Given the description of an element on the screen output the (x, y) to click on. 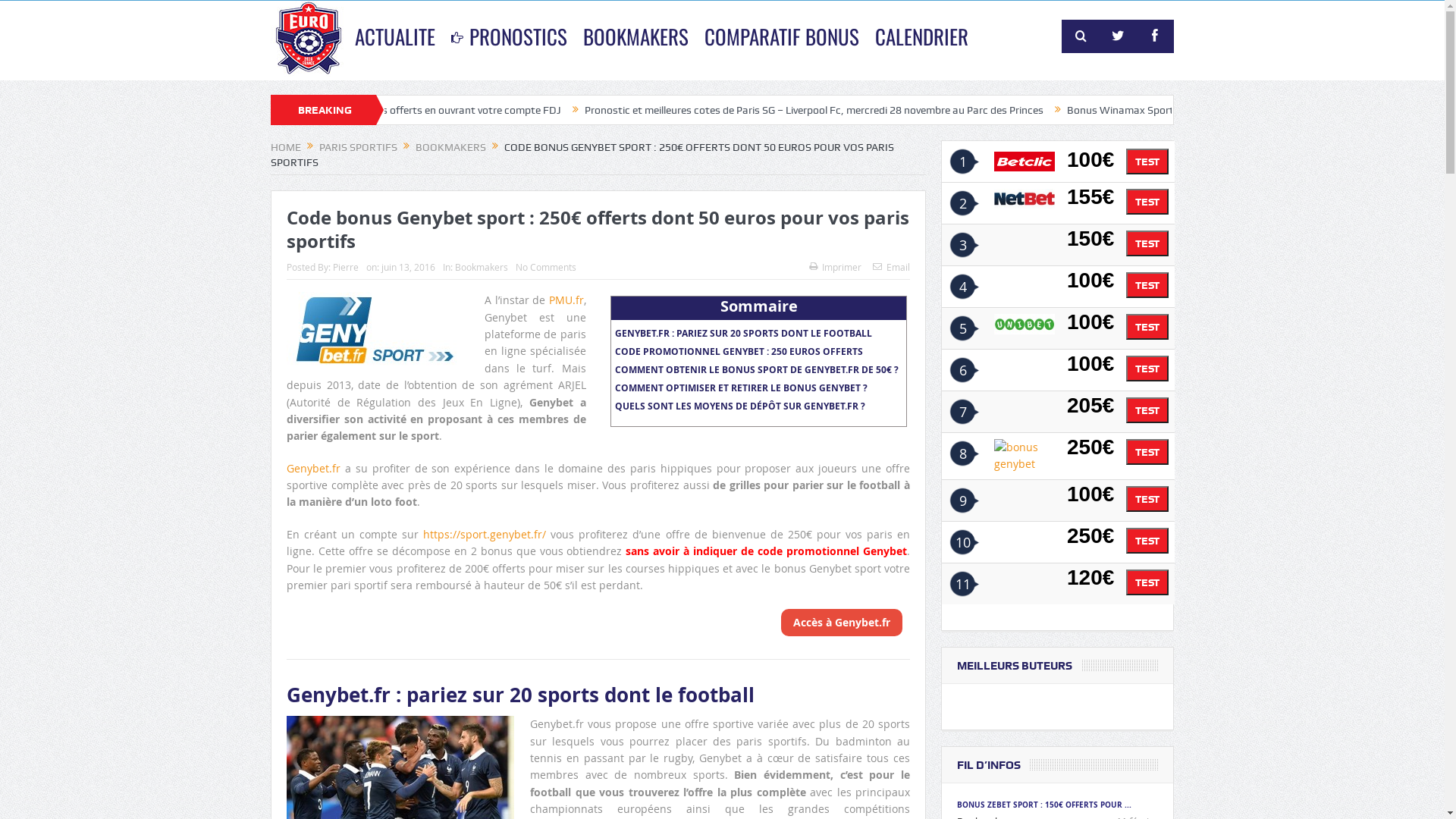
TEST Element type: text (1147, 451)
BOOKMAKERS Element type: text (450, 147)
Email Element type: text (891, 266)
TEST Element type: text (1147, 540)
CALENDRIER Element type: text (921, 36)
TEST Element type: text (1147, 409)
Pierre Element type: text (345, 266)
TEST Element type: text (1147, 540)
TEST Element type: text (1147, 201)
ACTUALITE Element type: text (394, 36)
TEST Element type: text (1147, 160)
No Comments Element type: text (545, 266)
TEST Element type: text (1147, 243)
CODE PROMOTIONNEL GENYBET : 250 EUROS OFFERTS Element type: text (738, 351)
TEST Element type: text (1147, 368)
COMPARATIF BONUS Element type: text (781, 36)
TEST Element type: text (1147, 326)
HOME Element type: text (285, 147)
TEST Element type: text (1147, 410)
TEST Element type: text (1147, 581)
TEST Element type: text (1147, 326)
BOOKMAKERS Element type: text (635, 36)
Genybet.fr Element type: text (313, 468)
TEST Element type: text (1147, 498)
https://sport.genybet.fr/ Element type: text (484, 534)
PMU.fr Element type: text (566, 299)
PRONOSTICS Element type: text (508, 36)
Imprimer Element type: text (835, 266)
TEST Element type: text (1147, 582)
GENYBET.FR : PARIEZ SUR 20 SPORTS DONT LE FOOTBALL Element type: text (743, 332)
TEST Element type: text (1147, 201)
TEST Element type: text (1147, 451)
TEST Element type: text (1147, 498)
TEST Element type: text (1147, 242)
TEST Element type: text (1147, 161)
PARIS SPORTIFS Element type: text (358, 147)
COMMENT OPTIMISER ET RETIRER LE BONUS GENYBET ? Element type: text (741, 387)
TEST Element type: text (1147, 367)
TEST Element type: text (1147, 285)
TEST Element type: text (1147, 284)
Bookmakers Element type: text (481, 266)
